Given the description of an element on the screen output the (x, y) to click on. 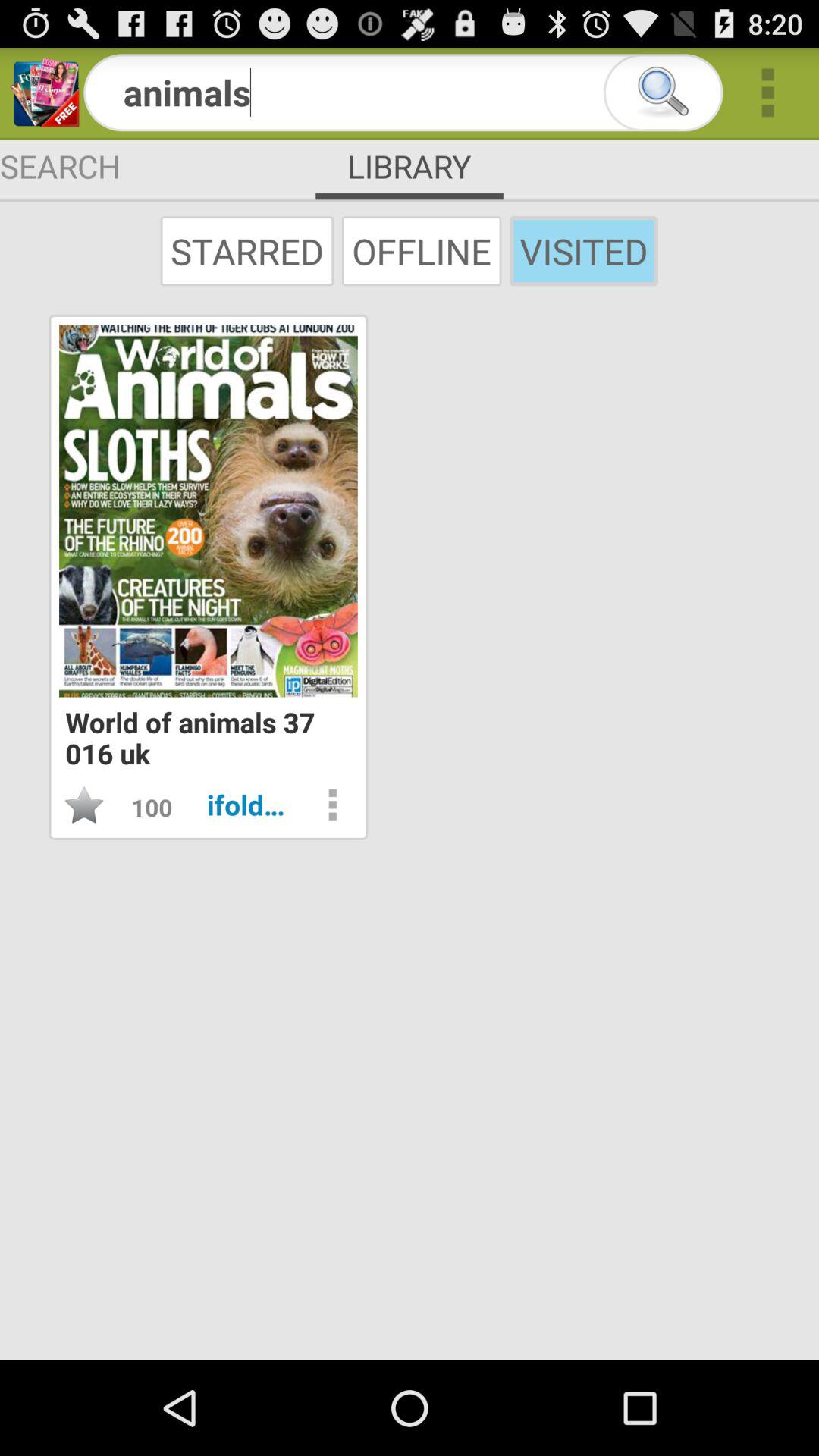
a magnifying glass for searching (662, 92)
